Given the description of an element on the screen output the (x, y) to click on. 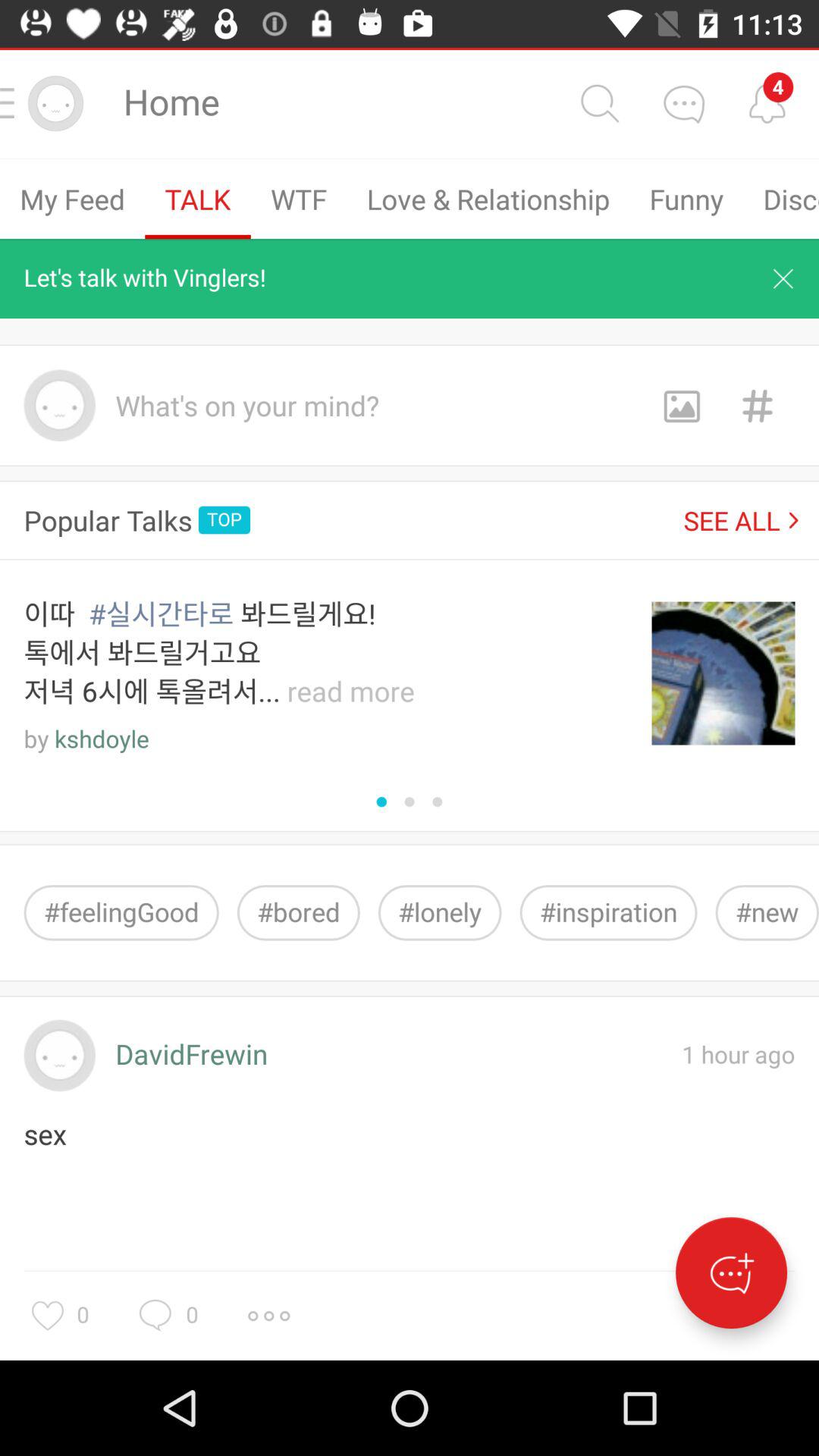
the settings page (268, 1315)
